Given the description of an element on the screen output the (x, y) to click on. 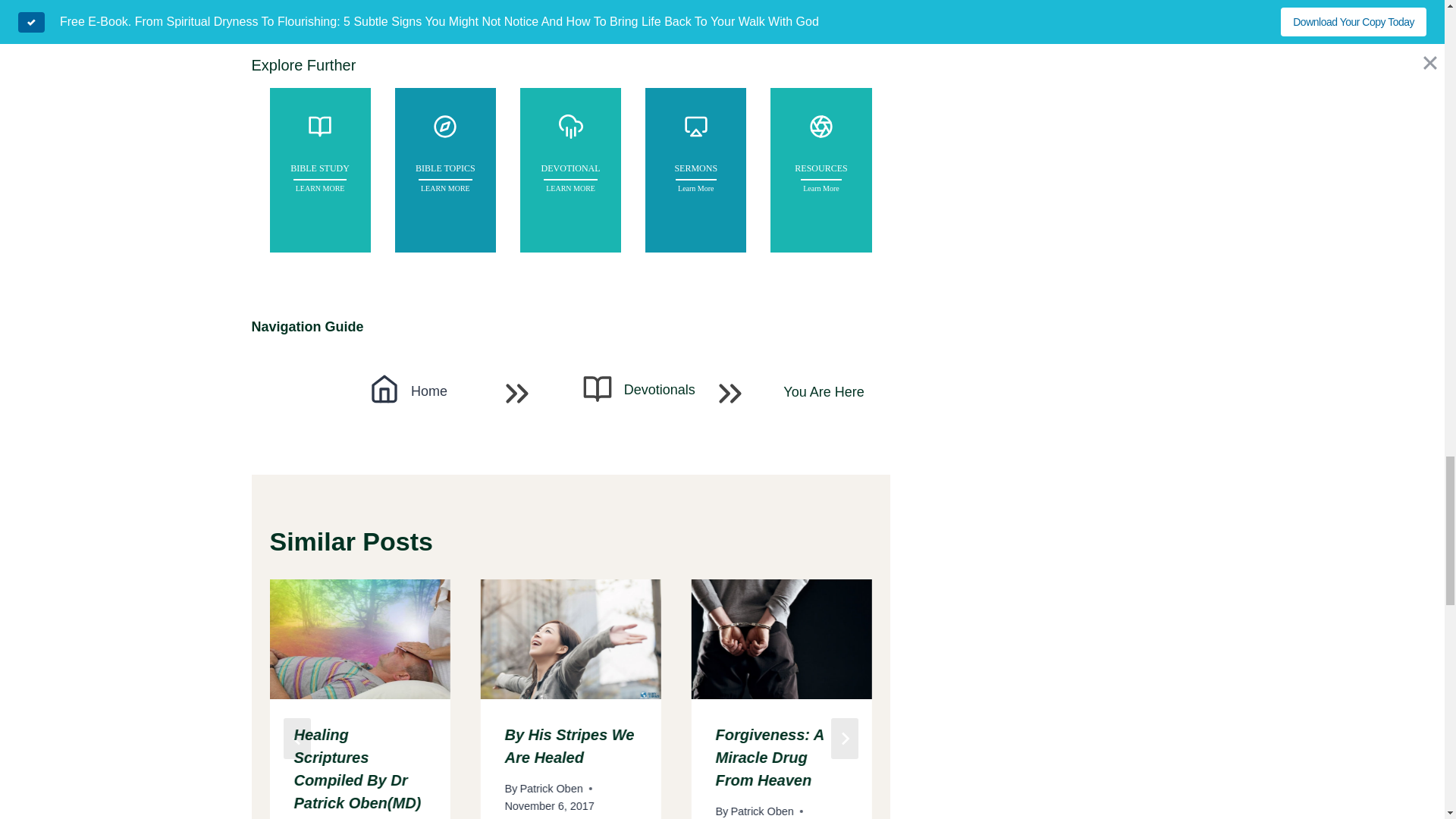
Divine Healing (296, 20)
